Given the description of an element on the screen output the (x, y) to click on. 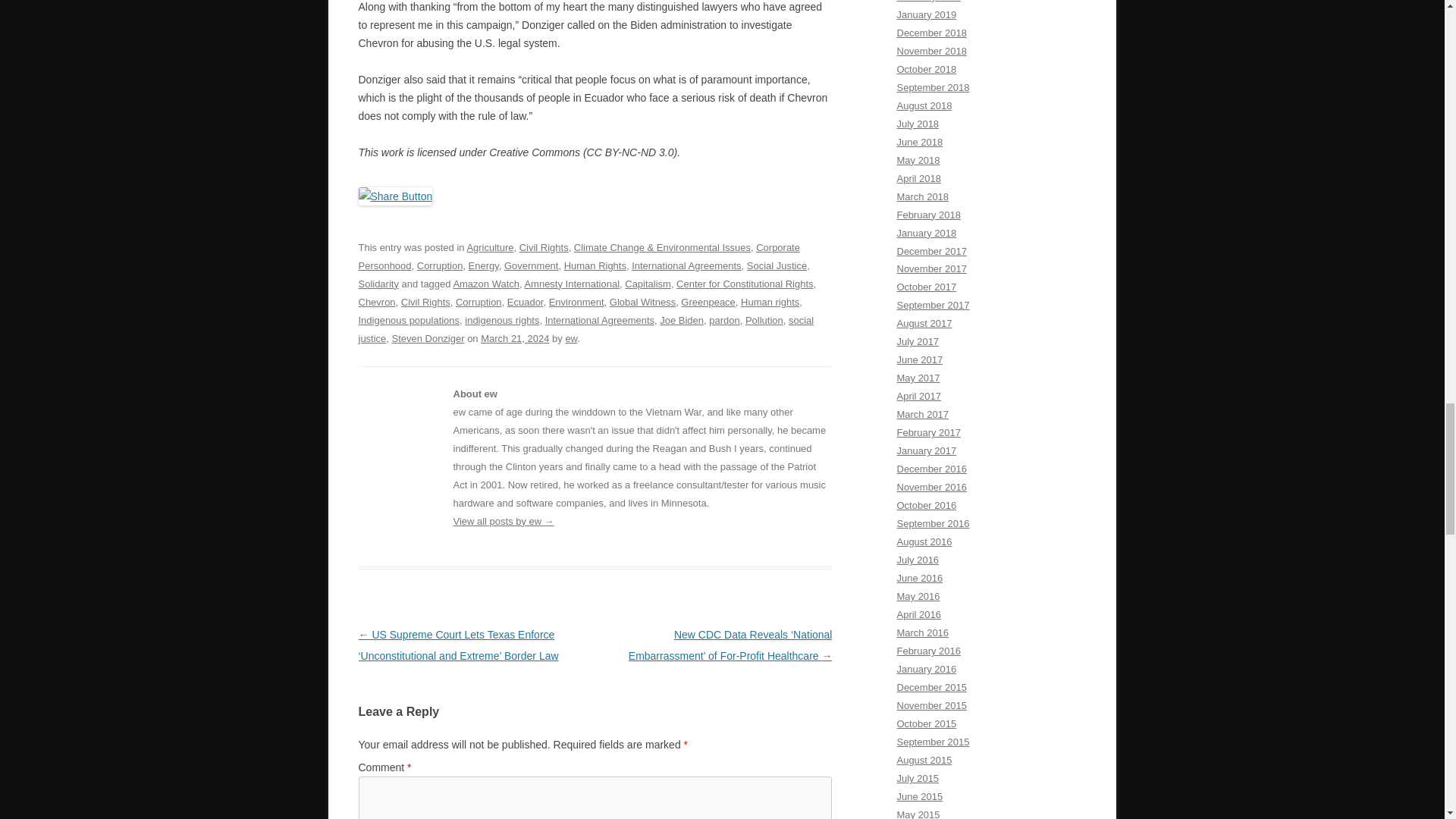
Government (530, 265)
Corruption (439, 265)
6:30 am (514, 337)
Social Justice (776, 265)
Civil Rights (544, 247)
International Agreements (686, 265)
Solidarity (377, 283)
Amazon Watch (485, 283)
View all posts by ew (570, 337)
Human Rights (595, 265)
